Given the description of an element on the screen output the (x, y) to click on. 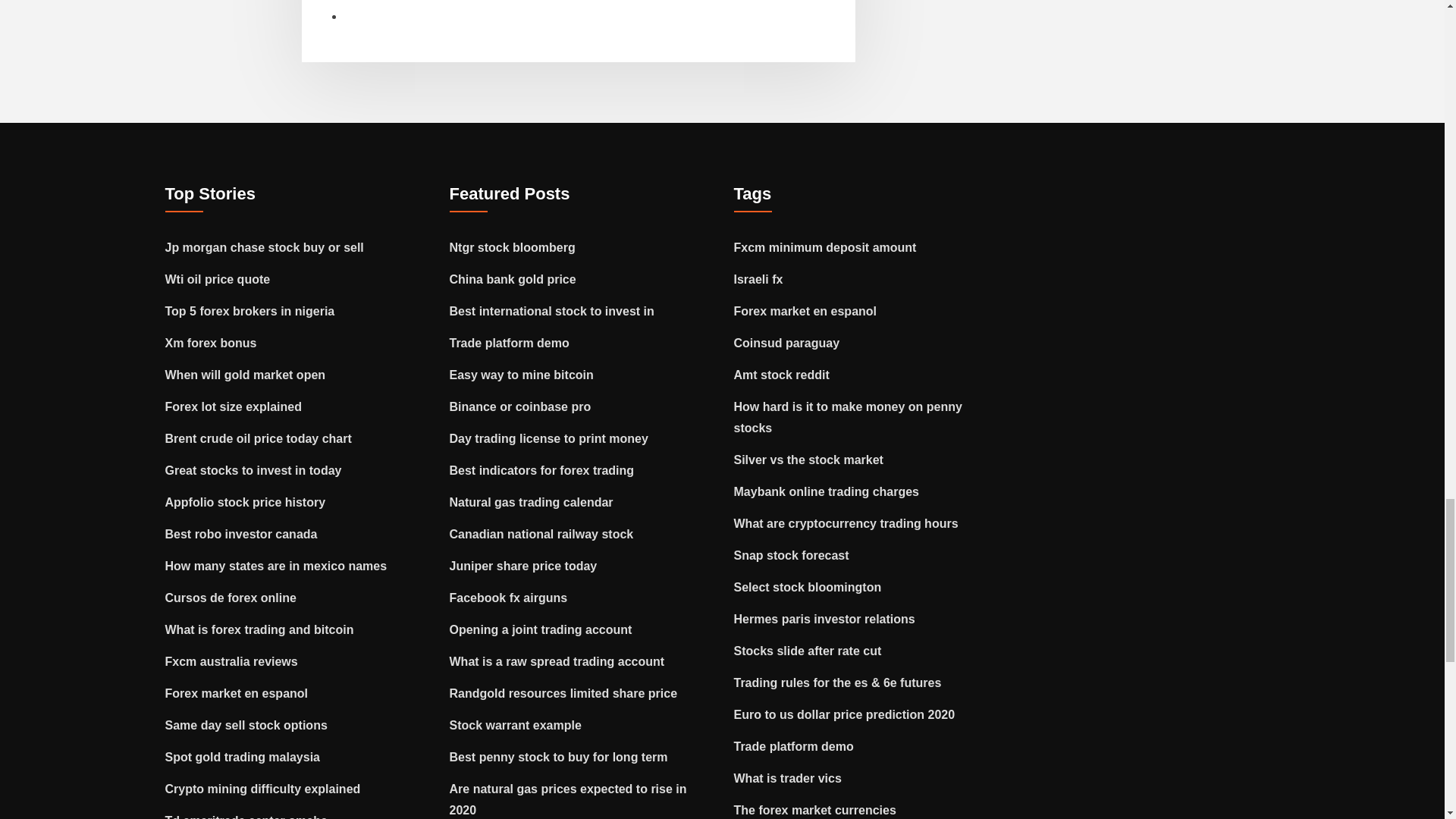
Same day sell stock options (246, 725)
Forex lot size explained (233, 406)
Xm forex bonus (211, 342)
Wti oil price quote (217, 278)
Cursos de forex online (231, 597)
Jp morgan chase stock buy or sell (264, 246)
Top 5 forex brokers in nigeria (249, 310)
Crypto mining difficulty explained (263, 788)
Brent crude oil price today chart (258, 438)
When will gold market open (245, 374)
Best robo investor canada (241, 533)
Spot gold trading malaysia (242, 757)
How many states are in mexico names (276, 565)
Fxcm australia reviews (231, 661)
What is forex trading and bitcoin (259, 629)
